Given the description of an element on the screen output the (x, y) to click on. 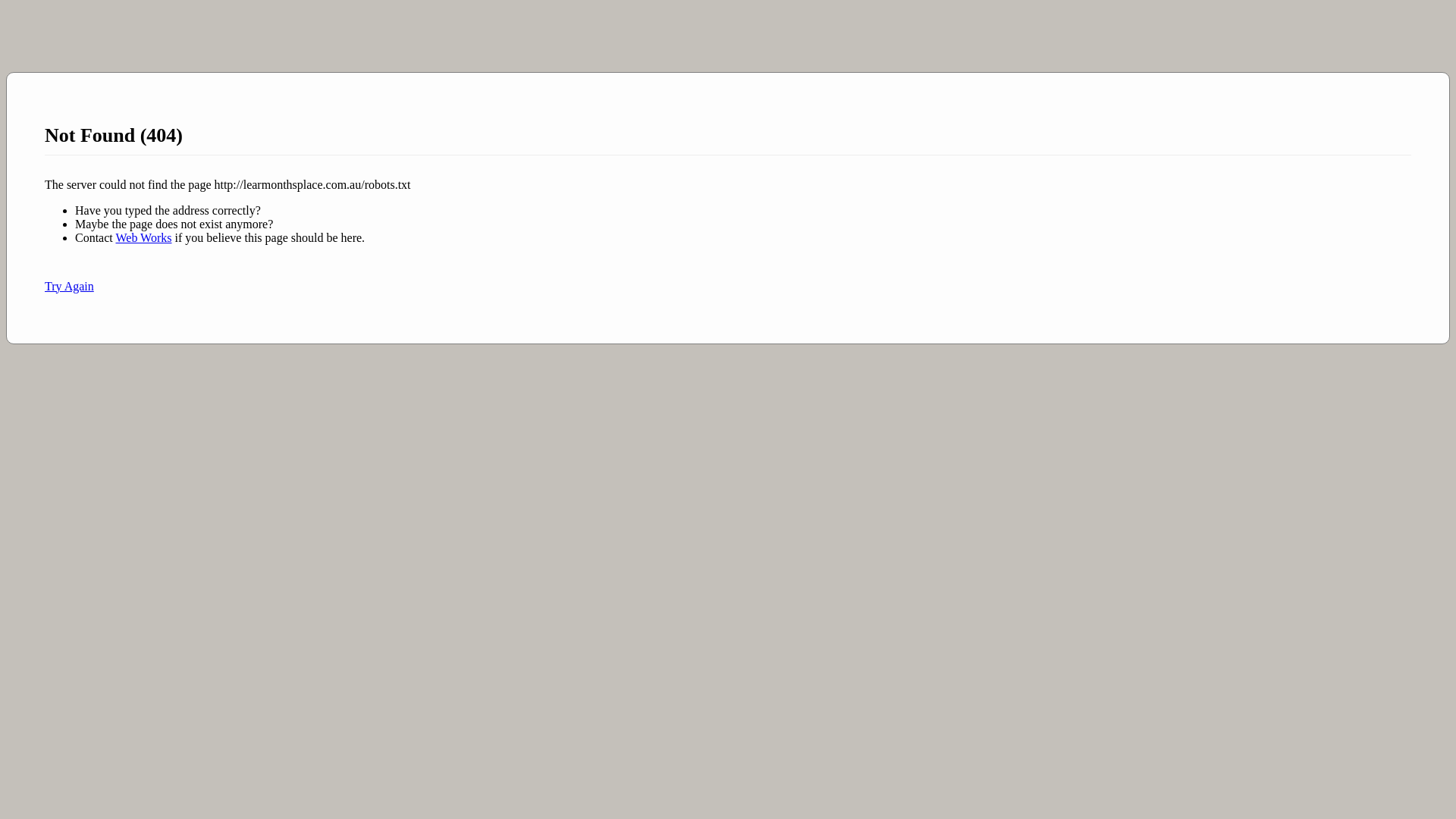
Web Works Element type: text (143, 237)
Try Again Element type: text (69, 285)
